Given the description of an element on the screen output the (x, y) to click on. 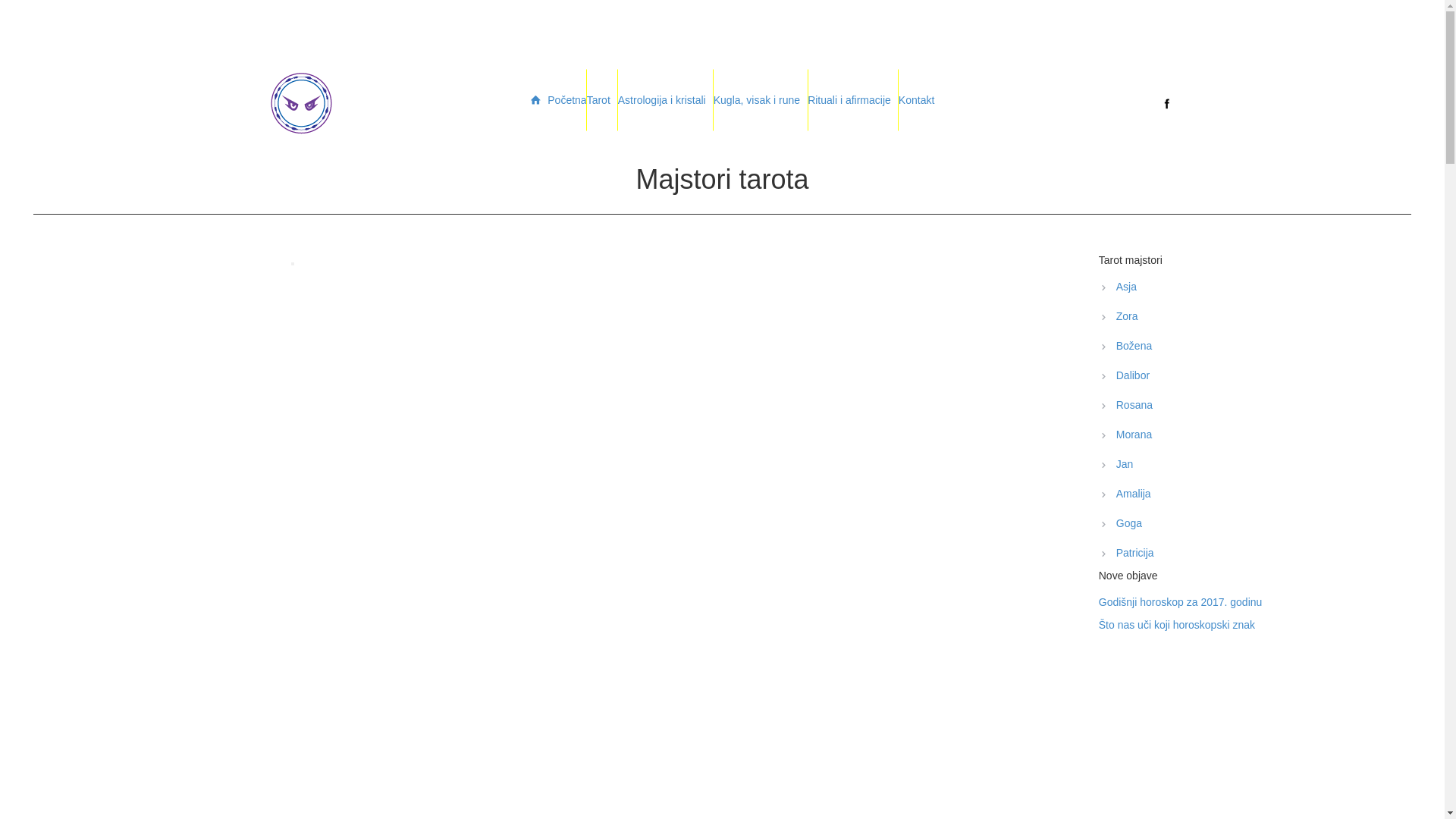
Morana Element type: text (1245, 434)
  Element type: text (1134, 102)
Facebook Element type: hover (1166, 103)
Kugla, visak i rune Element type: text (760, 99)
Zora Element type: text (1245, 315)
Asja Element type: text (1245, 286)
Jan Element type: text (1245, 463)
Tarot Element type: text (602, 99)
Rosana Element type: text (1245, 404)
Goga Element type: text (1245, 522)
Go! Element type: text (8, 6)
Rituali i afirmacije Element type: text (852, 99)
Amalija Element type: text (1245, 493)
Dalibor Element type: text (1245, 374)
Patricija Element type: text (1245, 552)
Kontakt Element type: text (916, 99)
Astrologija i kristali Element type: text (665, 99)
